Given the description of an element on the screen output the (x, y) to click on. 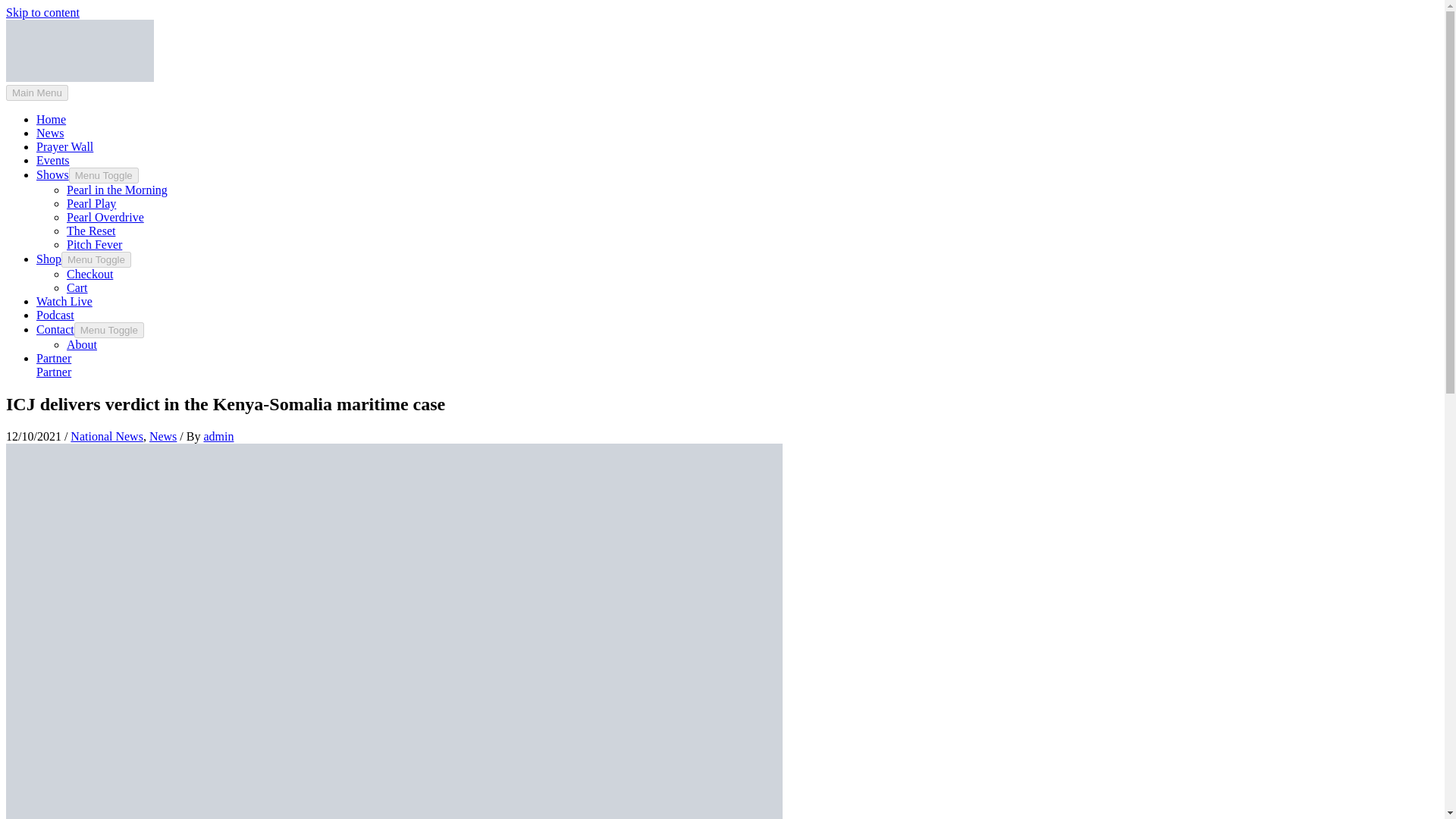
Partner (53, 371)
National News (105, 436)
Podcast (55, 314)
News (162, 436)
View all posts by admin (217, 436)
Shows (52, 174)
Shop (48, 258)
Events (52, 160)
Pitch Fever (94, 244)
Pearl Play (91, 203)
